Given the description of an element on the screen output the (x, y) to click on. 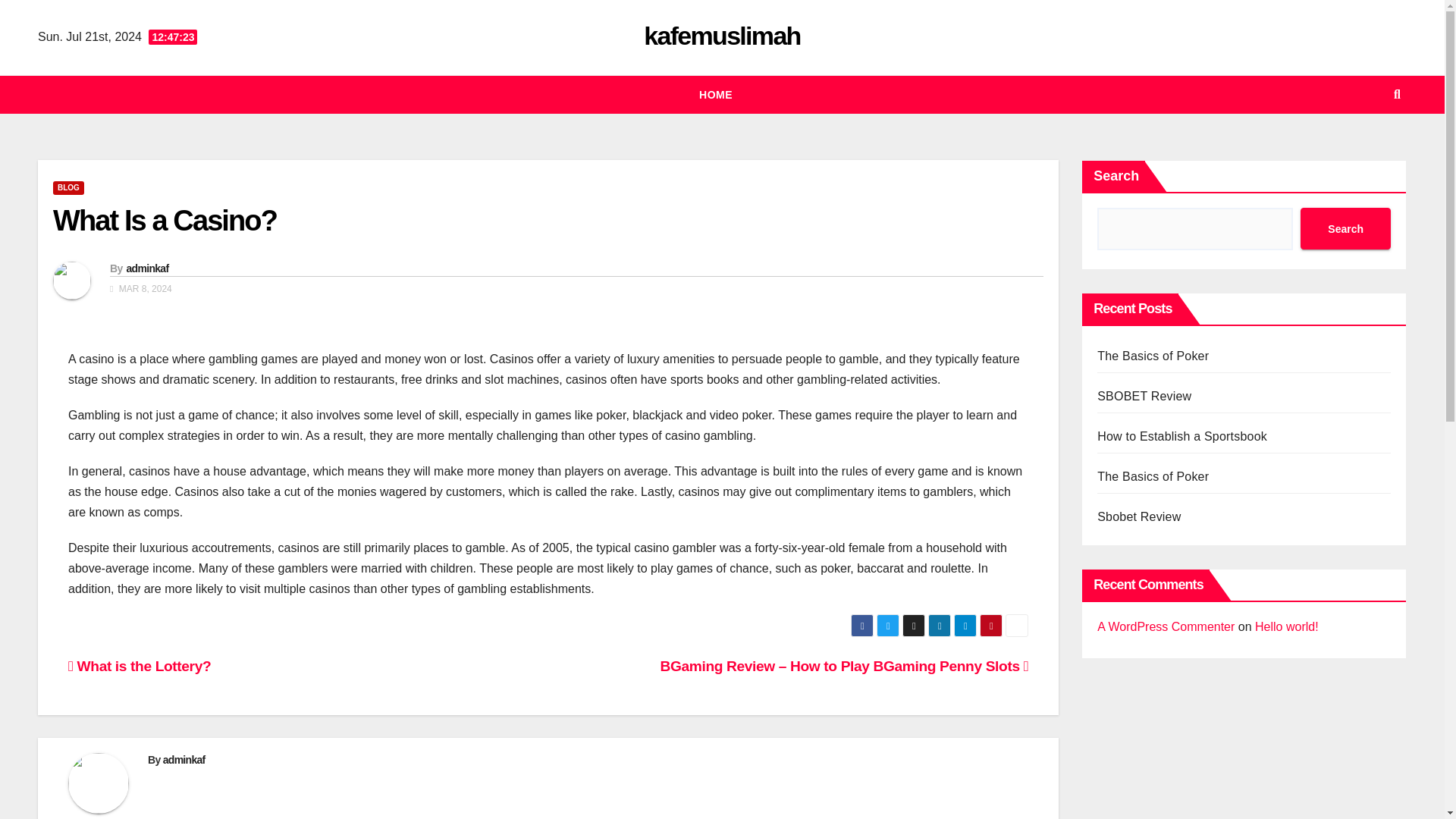
The Basics of Poker (1152, 476)
How to Establish a Sportsbook (1181, 436)
The Basics of Poker (1152, 355)
kafemuslimah (721, 35)
SBOBET Review (1144, 395)
adminkaf (184, 759)
What Is a Casino? (164, 220)
Search (1345, 228)
Permalink to: What Is a Casino? (164, 220)
BLOG (68, 187)
Sbobet Review (1138, 516)
What is the Lottery? (139, 666)
A WordPress Commenter (1165, 626)
adminkaf (146, 268)
Home (715, 94)
